Given the description of an element on the screen output the (x, y) to click on. 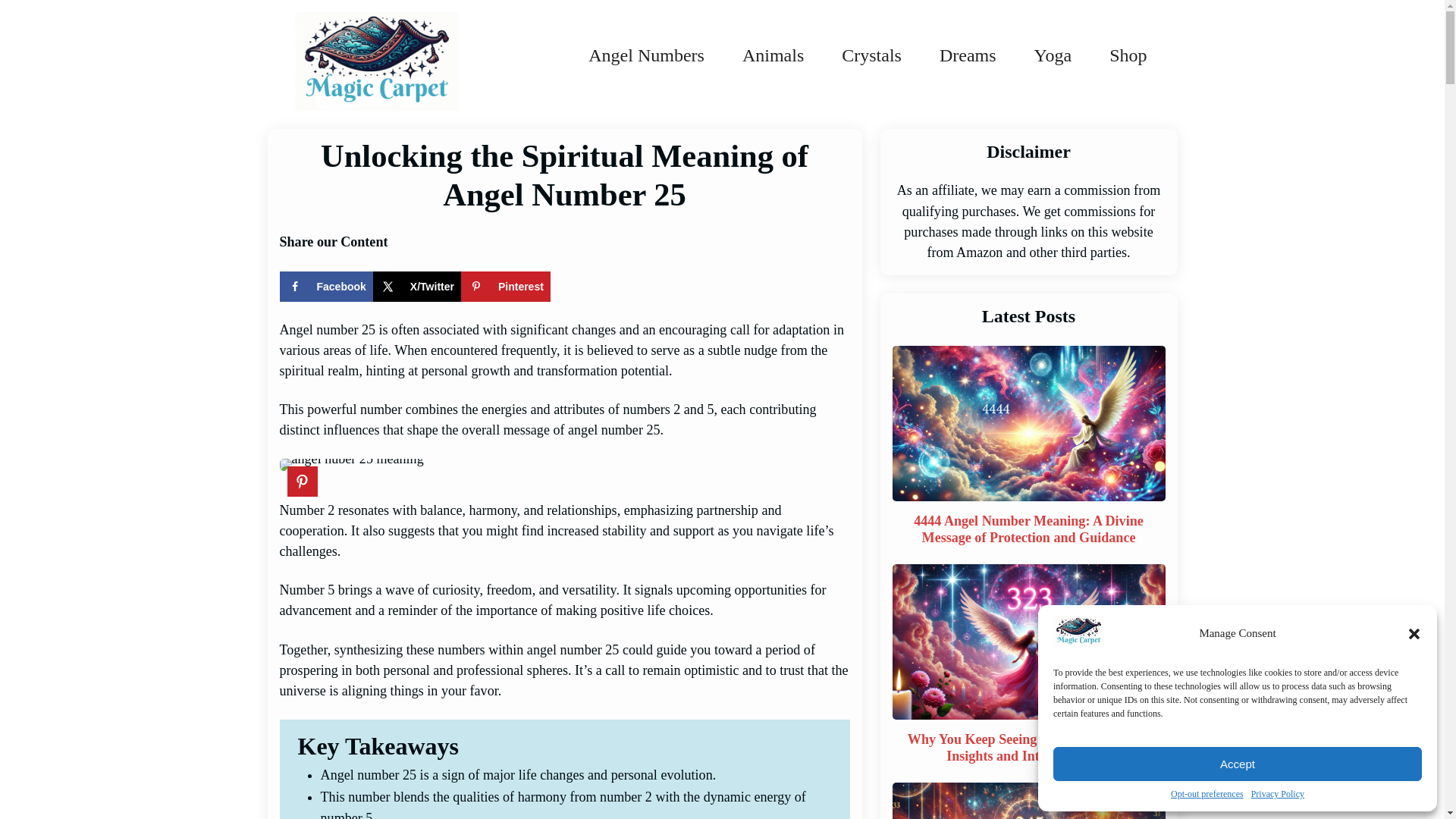
Share on Facebook (325, 286)
Yoga (1053, 55)
Animals (772, 55)
Privacy Policy (1277, 794)
Save to Pinterest (505, 286)
Opt-out preferences (1206, 794)
Facebook (325, 286)
Dreams (967, 55)
Pinterest (505, 286)
Share on X (416, 286)
Accept (1237, 763)
Angel Numbers (645, 55)
Crystals (871, 55)
